Given the description of an element on the screen output the (x, y) to click on. 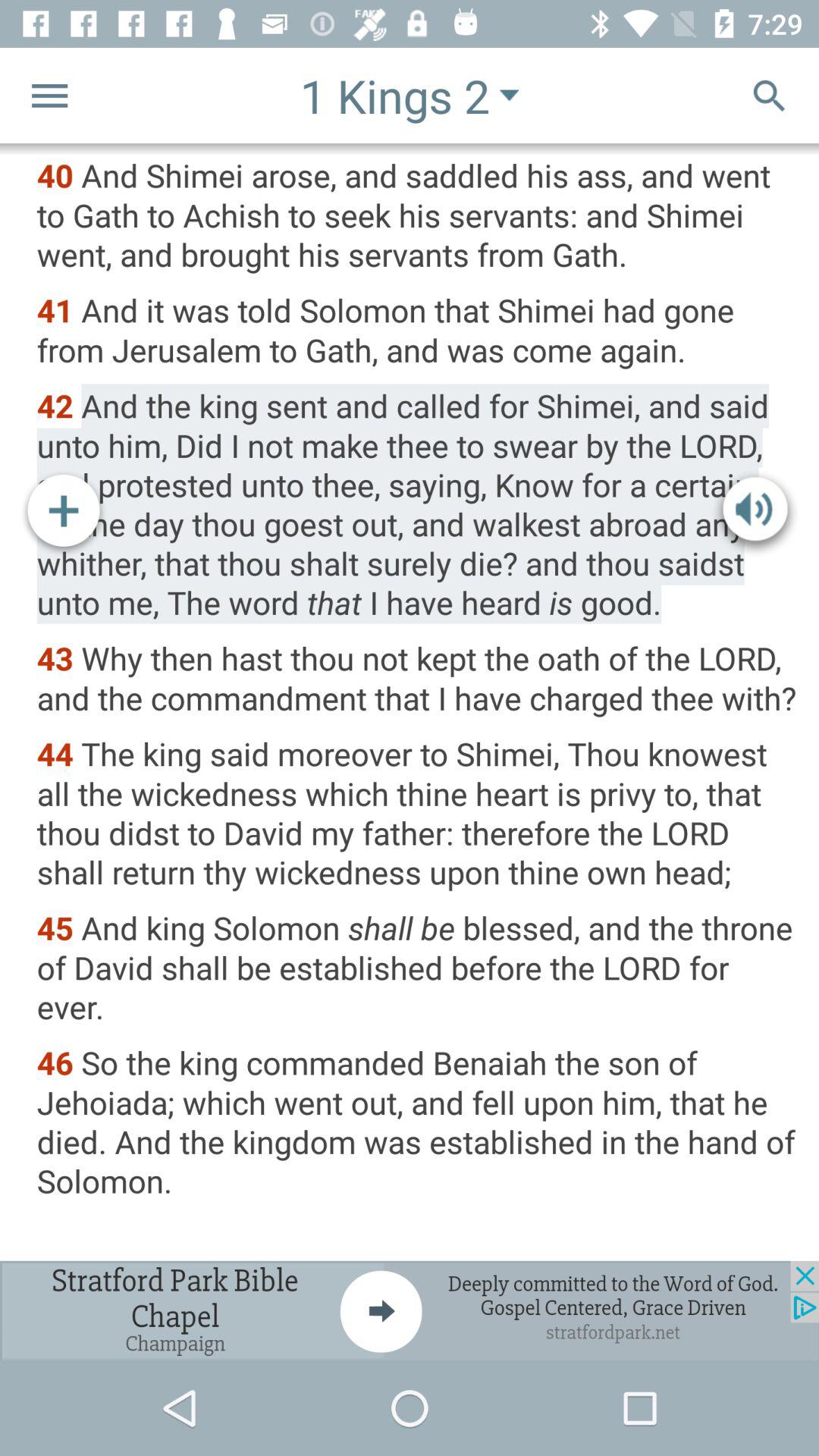
audio sound (755, 513)
